Given the description of an element on the screen output the (x, y) to click on. 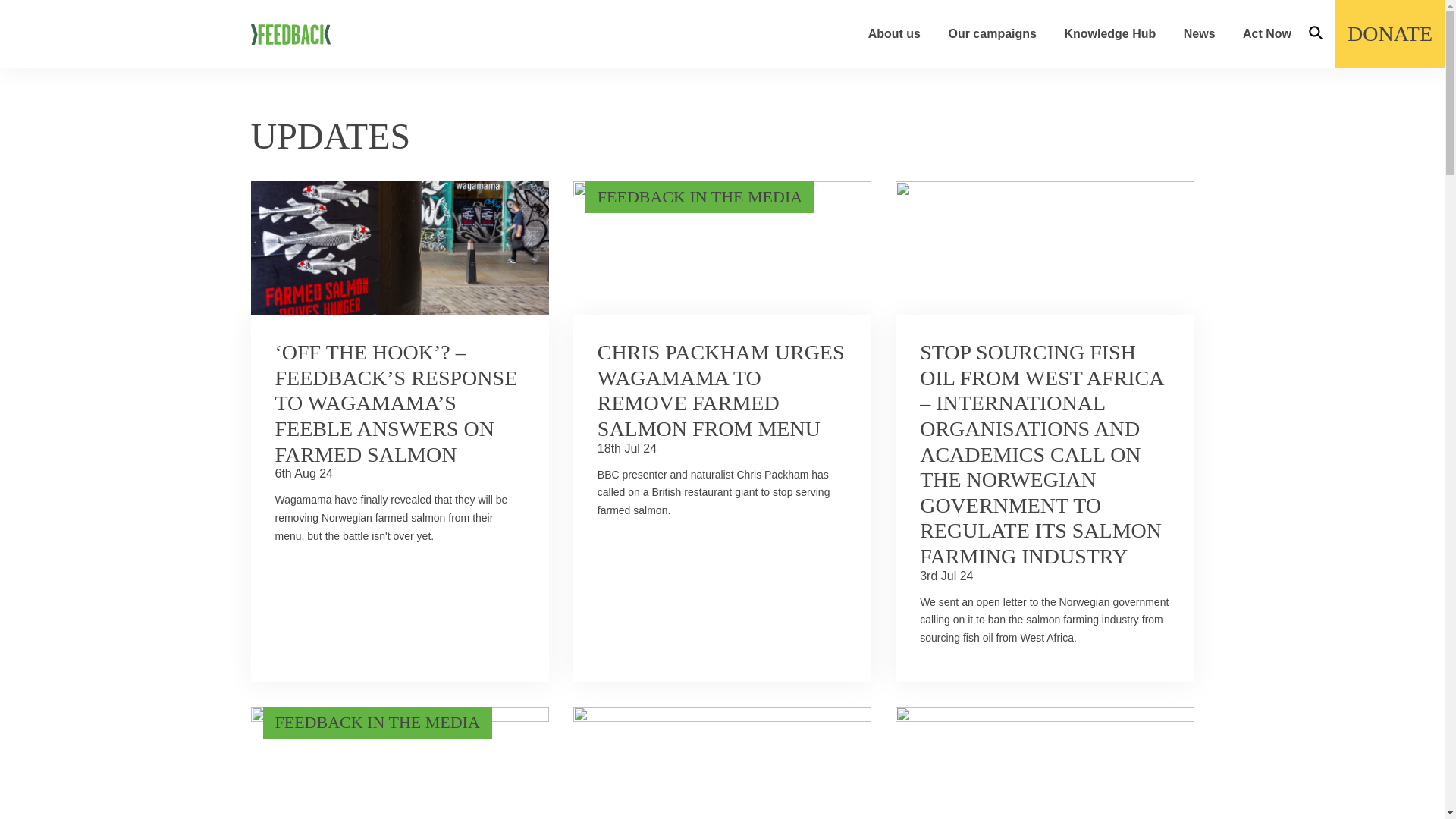
Knowledge Hub (1110, 33)
Our campaigns (991, 33)
News (1199, 33)
Act Now (1267, 33)
About us (893, 33)
